Given the description of an element on the screen output the (x, y) to click on. 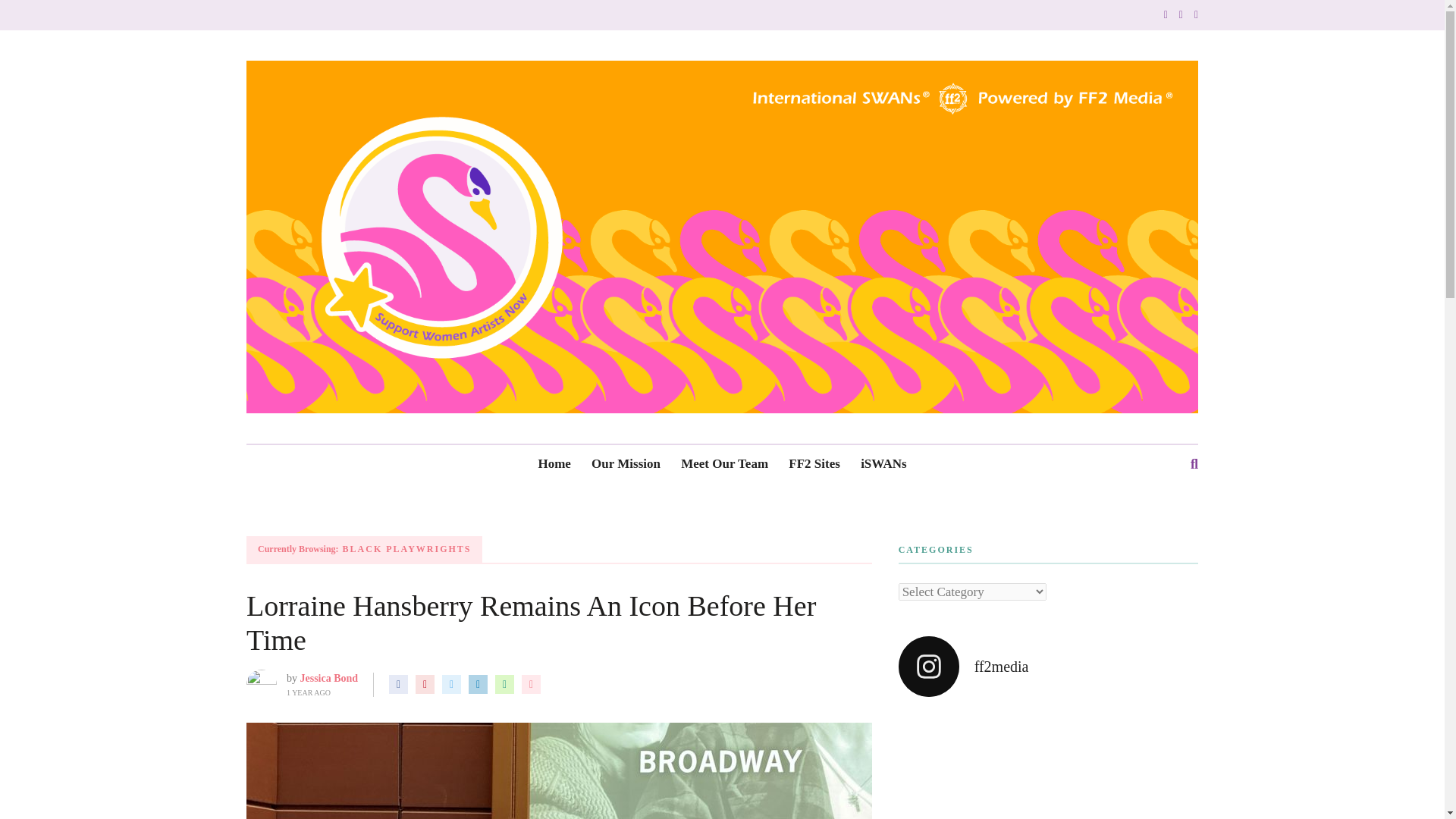
FF2 Sites (814, 464)
iSWANs (882, 464)
Our Mission (626, 464)
Posts by Jessica Bond (328, 677)
Meet Our Team (724, 464)
Lorraine Hansberry Remains An Icon Before Her Time (530, 622)
Jessica Bond (328, 677)
ff2media (1048, 666)
